Given the description of an element on the screen output the (x, y) to click on. 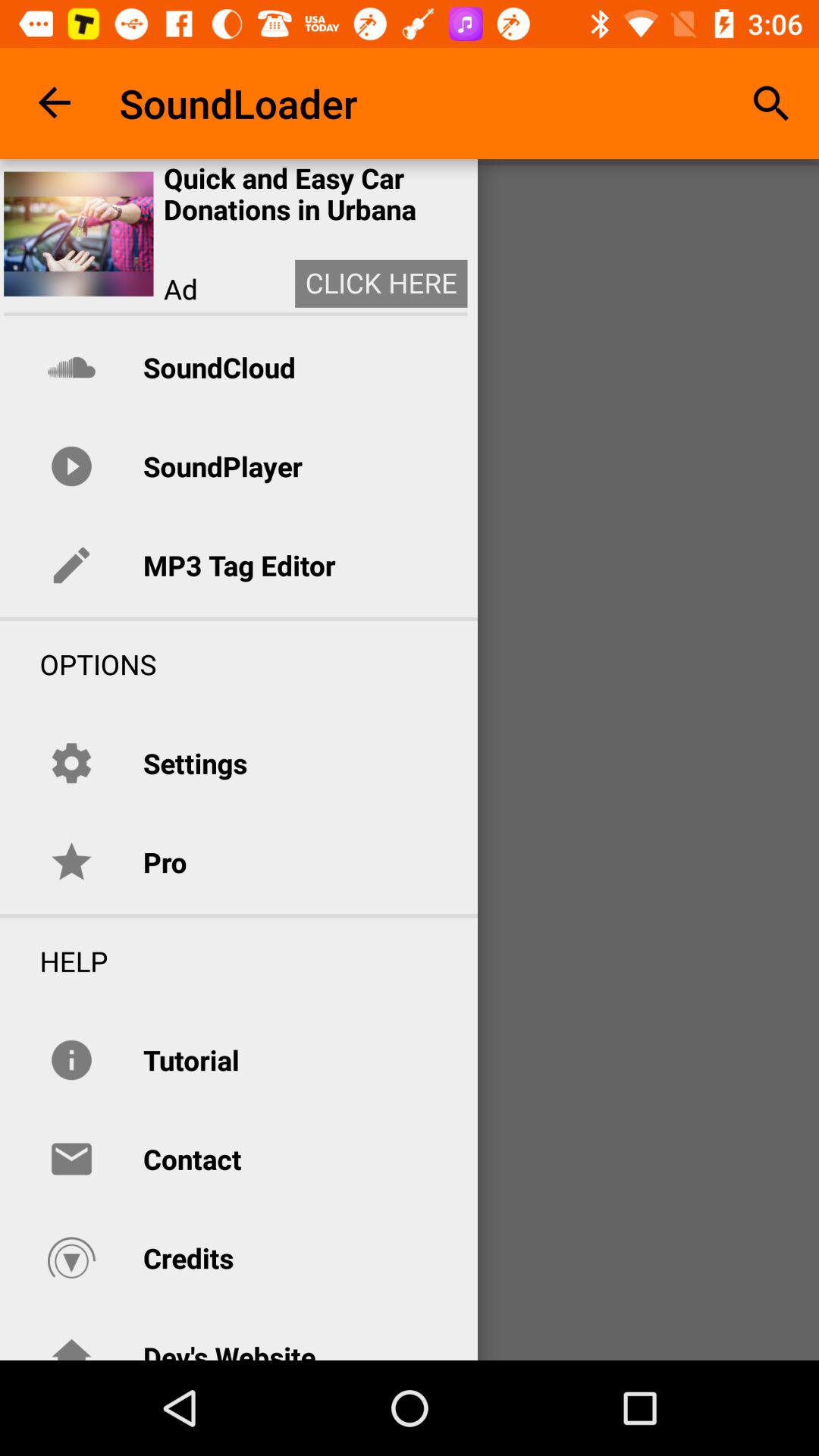
turn on item below the soundloader item (315, 194)
